Given the description of an element on the screen output the (x, y) to click on. 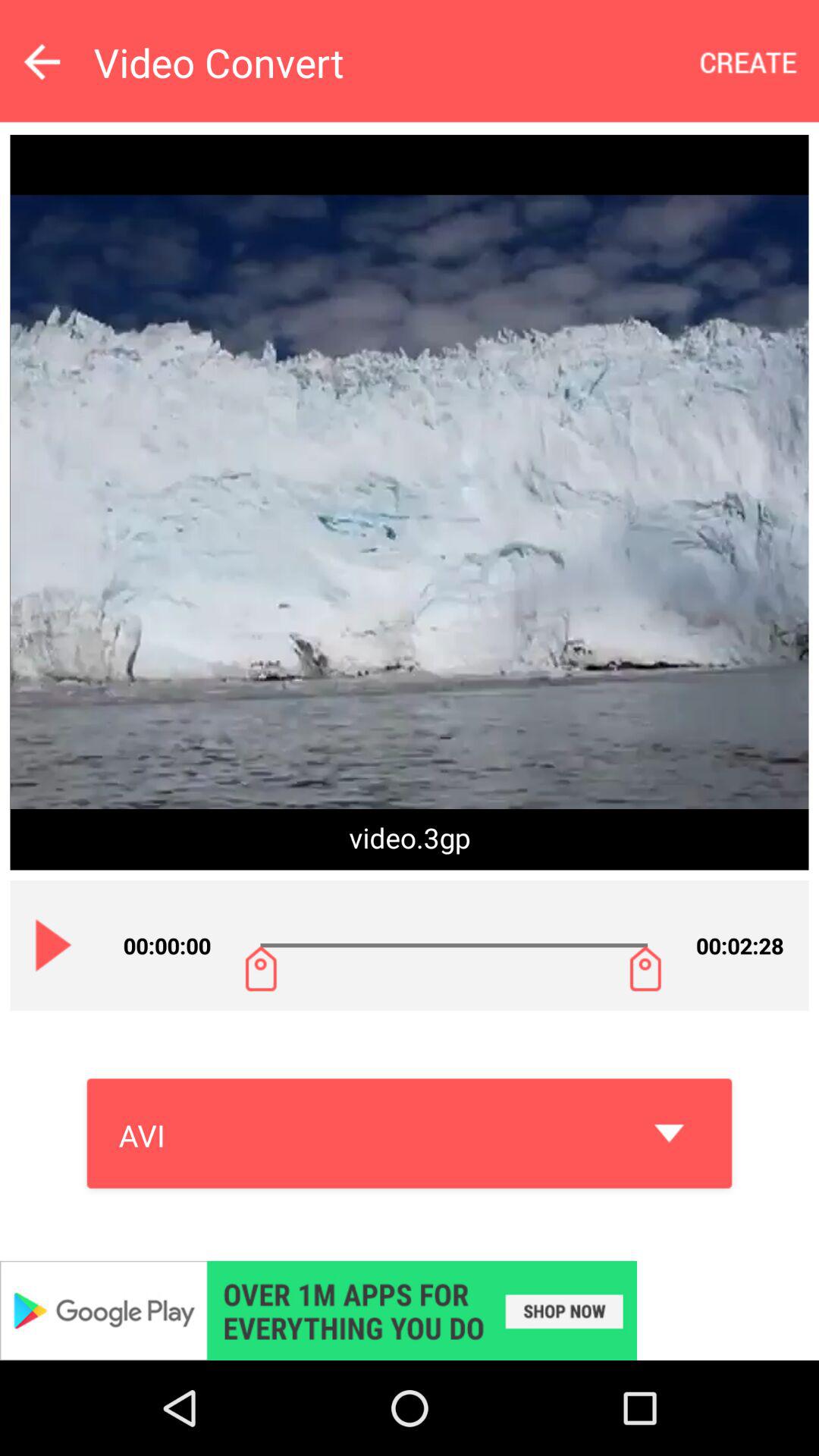
click to the play (54, 945)
